Given the description of an element on the screen output the (x, y) to click on. 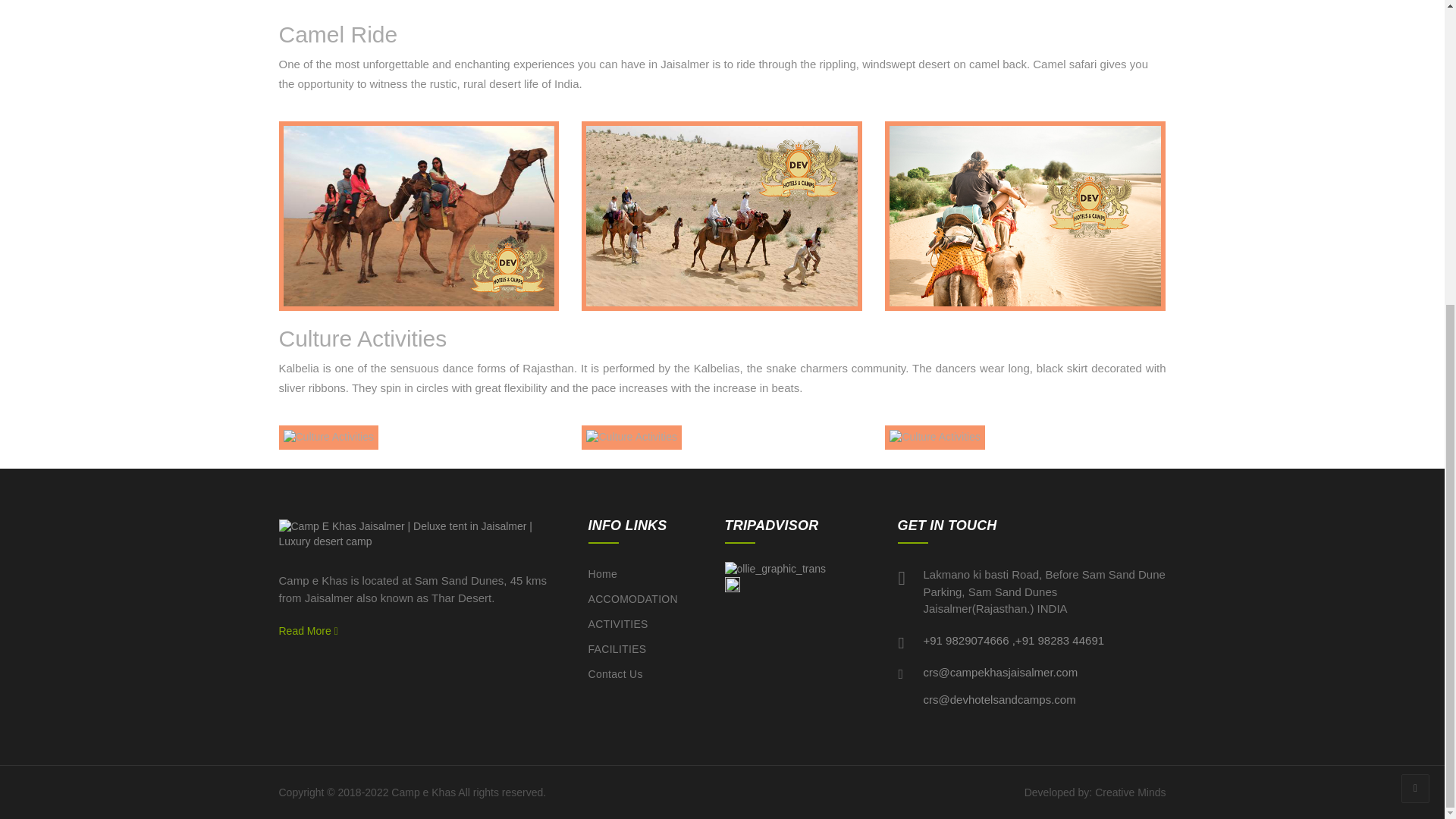
Home (644, 574)
Culture Activities (934, 437)
Read More (308, 630)
camel-safari-rajasthan (721, 216)
Culture Activities (328, 437)
Culture Activities (631, 437)
jaisalmer-camel-safari (418, 216)
camel-safari-in-jaisalamer-desert-0087 (1024, 216)
